Given the description of an element on the screen output the (x, y) to click on. 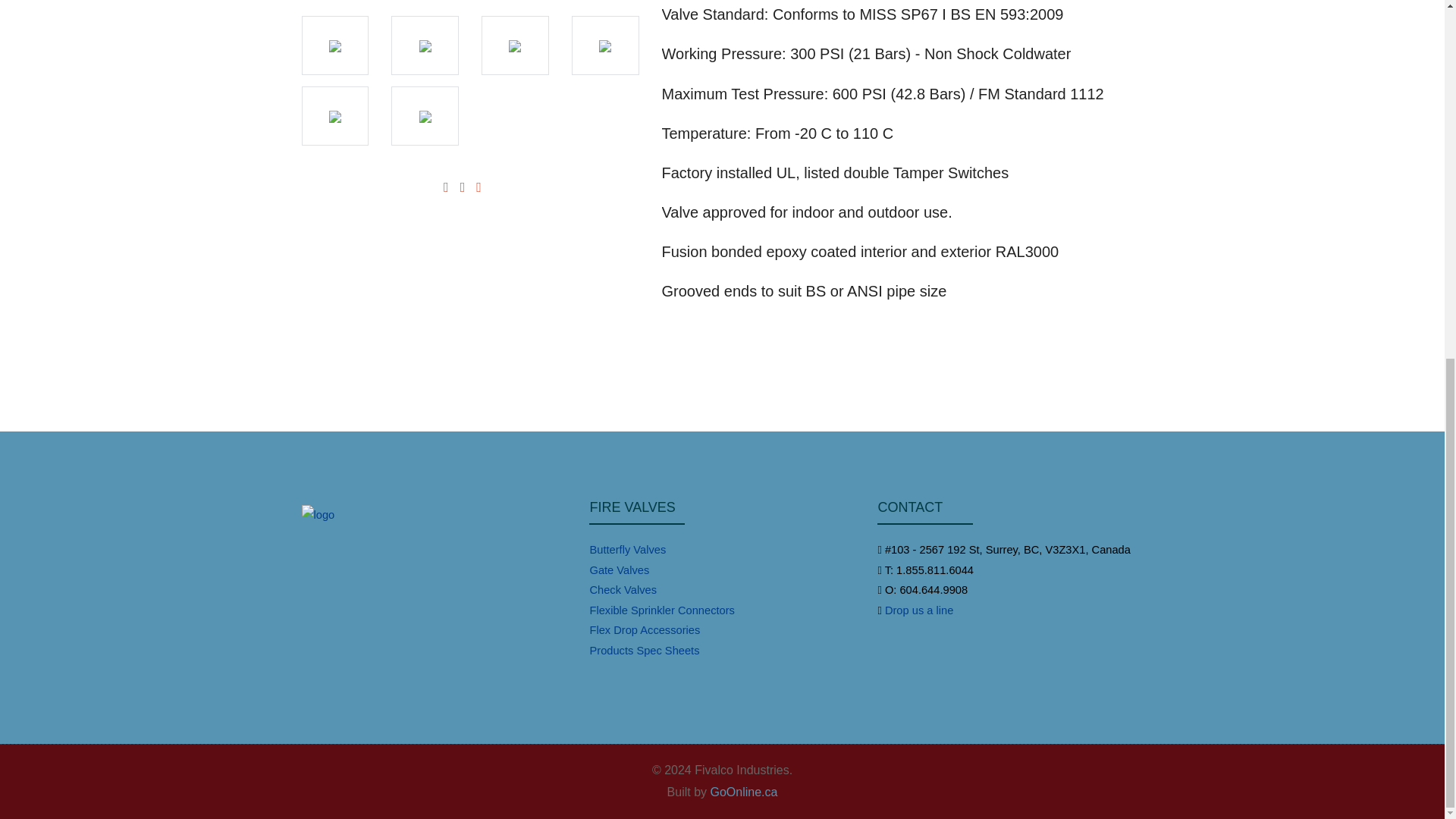
FPB-300G Butterfly Valve Grooved Ends (605, 44)
FPB-300G Butterfly Valve Grooved Ends (334, 44)
FPB-300G Butterfly Valve Grooved Ends (424, 44)
FPB-300G Butterfly Valve Grooved Ends (424, 115)
FPB-300G Butterfly Valve Grooved Ends (334, 115)
FPB-300G Butterfly Valve Grooved Ends (514, 44)
